Given the description of an element on the screen output the (x, y) to click on. 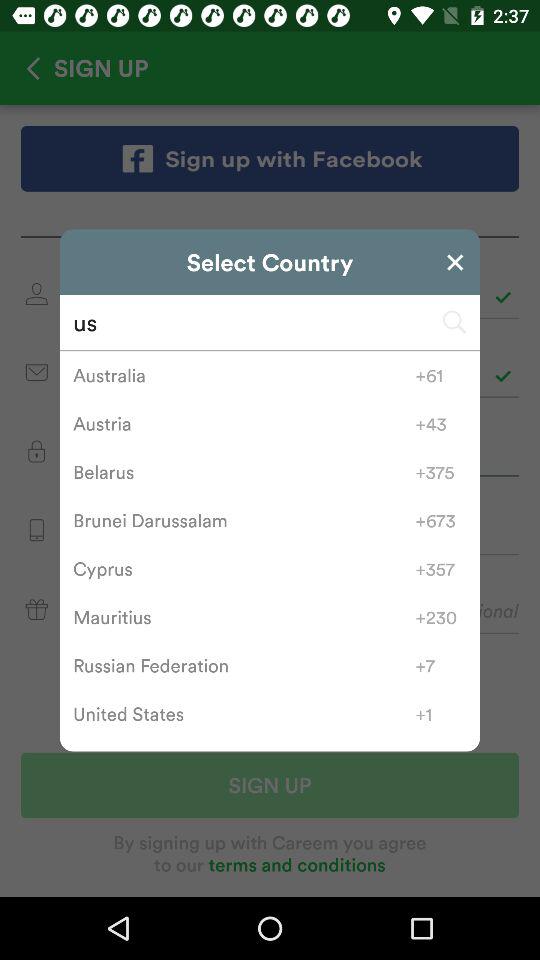
press item next to select country (455, 262)
